Given the description of an element on the screen output the (x, y) to click on. 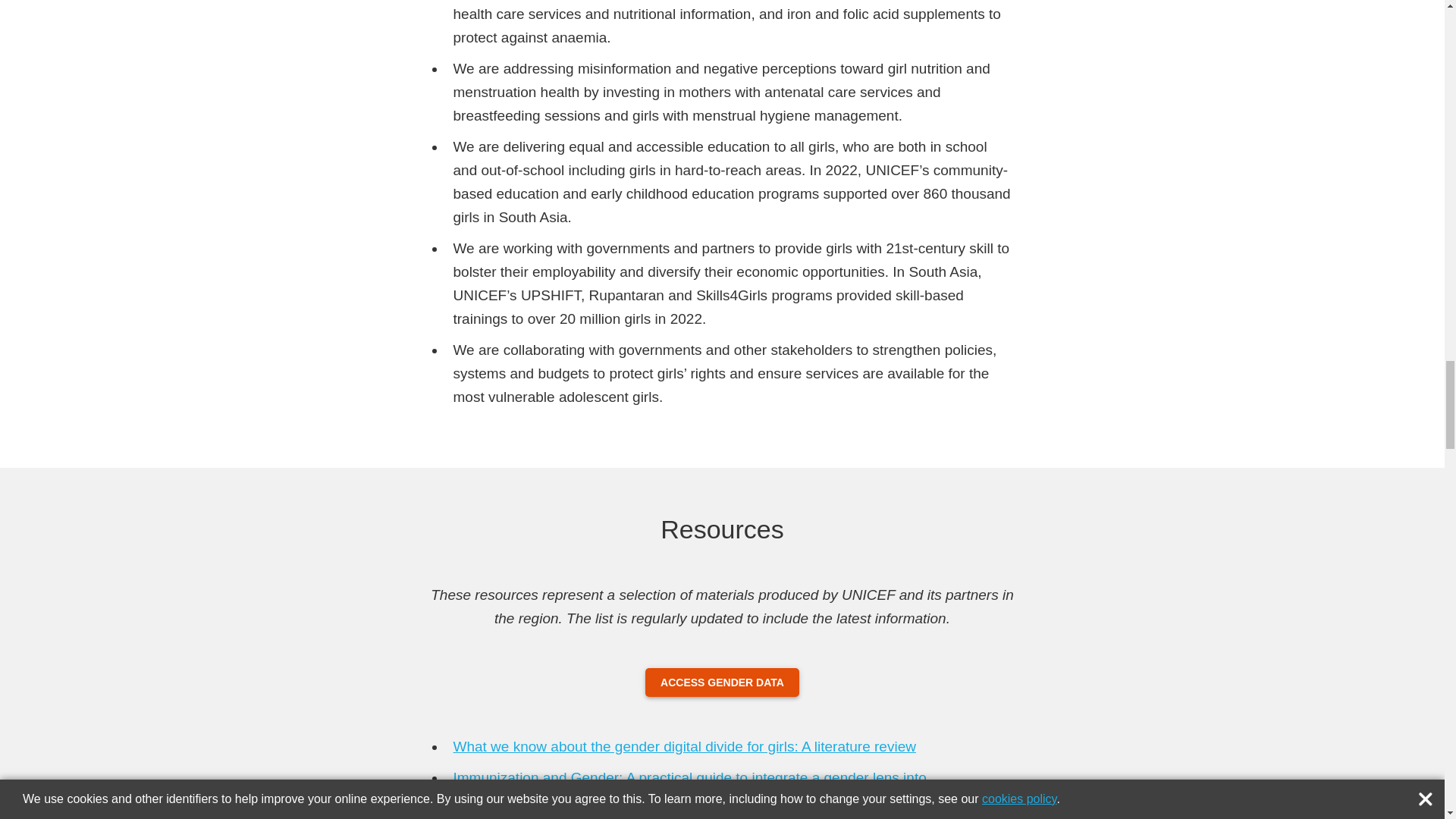
ACCESS GENDER DATA (722, 682)
